Given the description of an element on the screen output the (x, y) to click on. 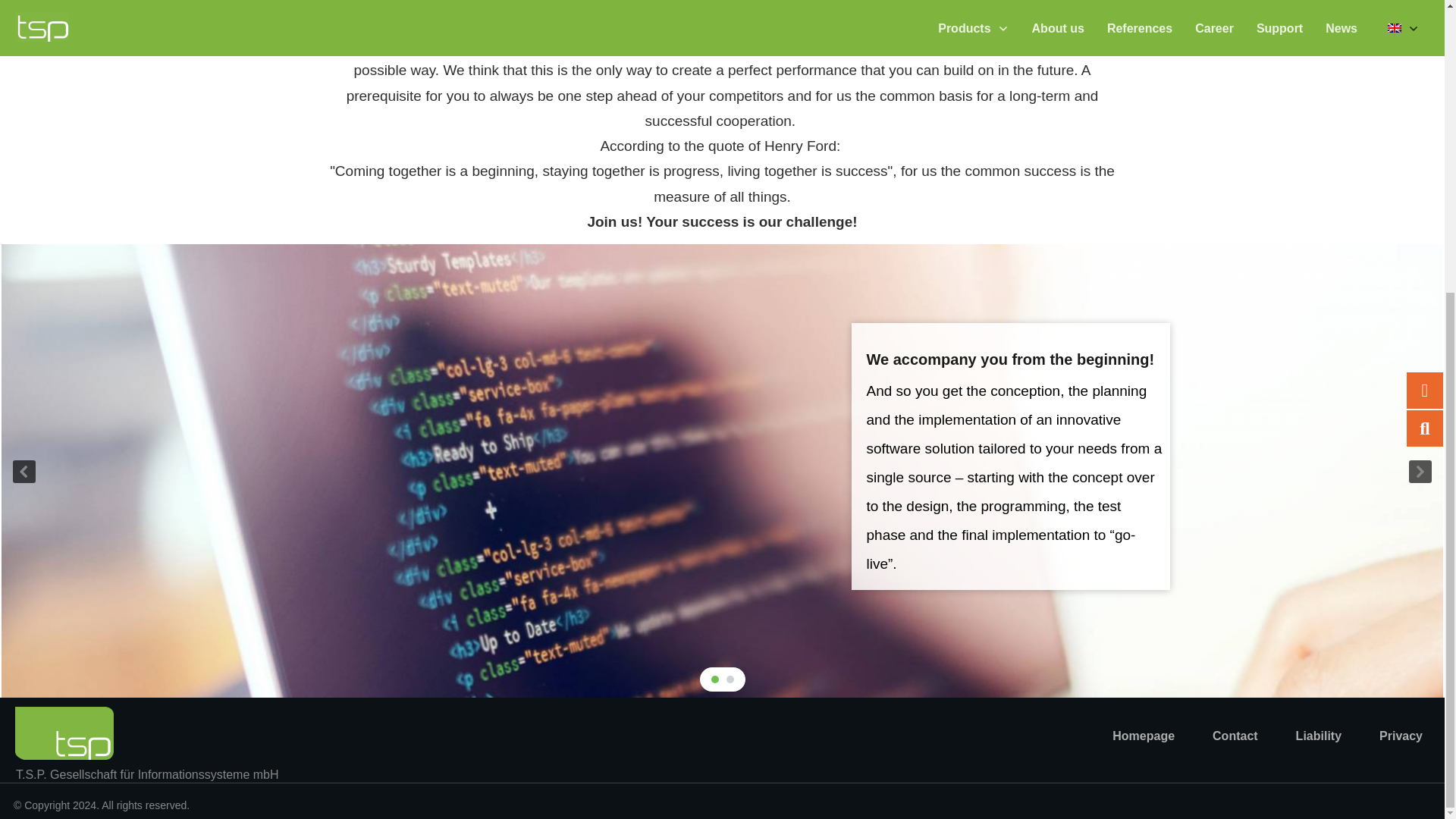
Homepage (1143, 735)
Liability (1317, 735)
Contact (1234, 735)
Privacy (1400, 735)
